Given the description of an element on the screen output the (x, y) to click on. 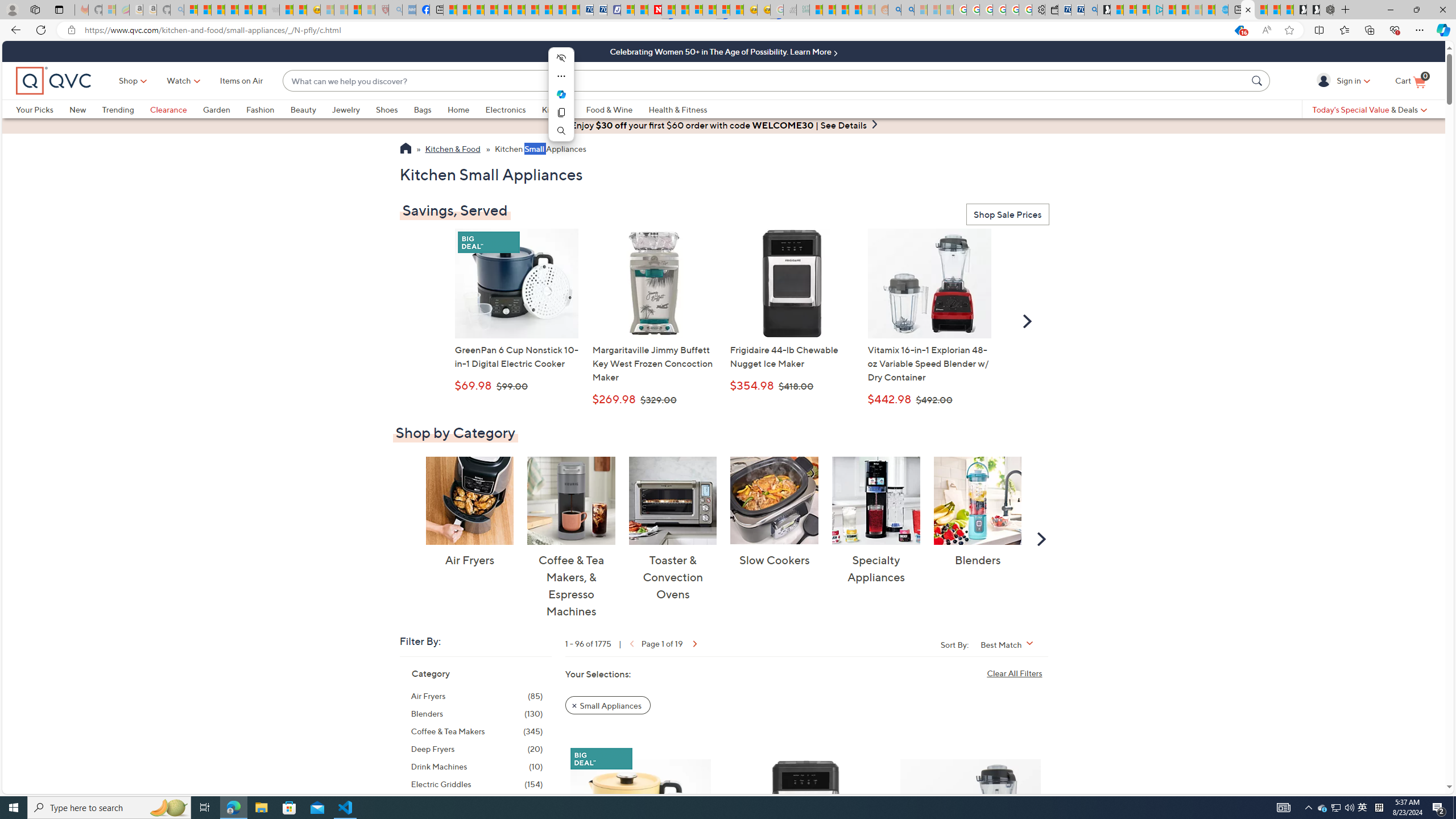
Garden (224, 109)
Toaster & Convection Ovens Toaster & Convection Ovens (672, 529)
This site has coupons! Shopping in Microsoft Edge, 16 (1239, 29)
Electronics (504, 109)
Deep Fryers, 20 items (476, 748)
Jewelry (353, 109)
Shoes (386, 109)
Bing Real Estate - Home sales and rental listings (1090, 9)
Shop (129, 80)
